Given the description of an element on the screen output the (x, y) to click on. 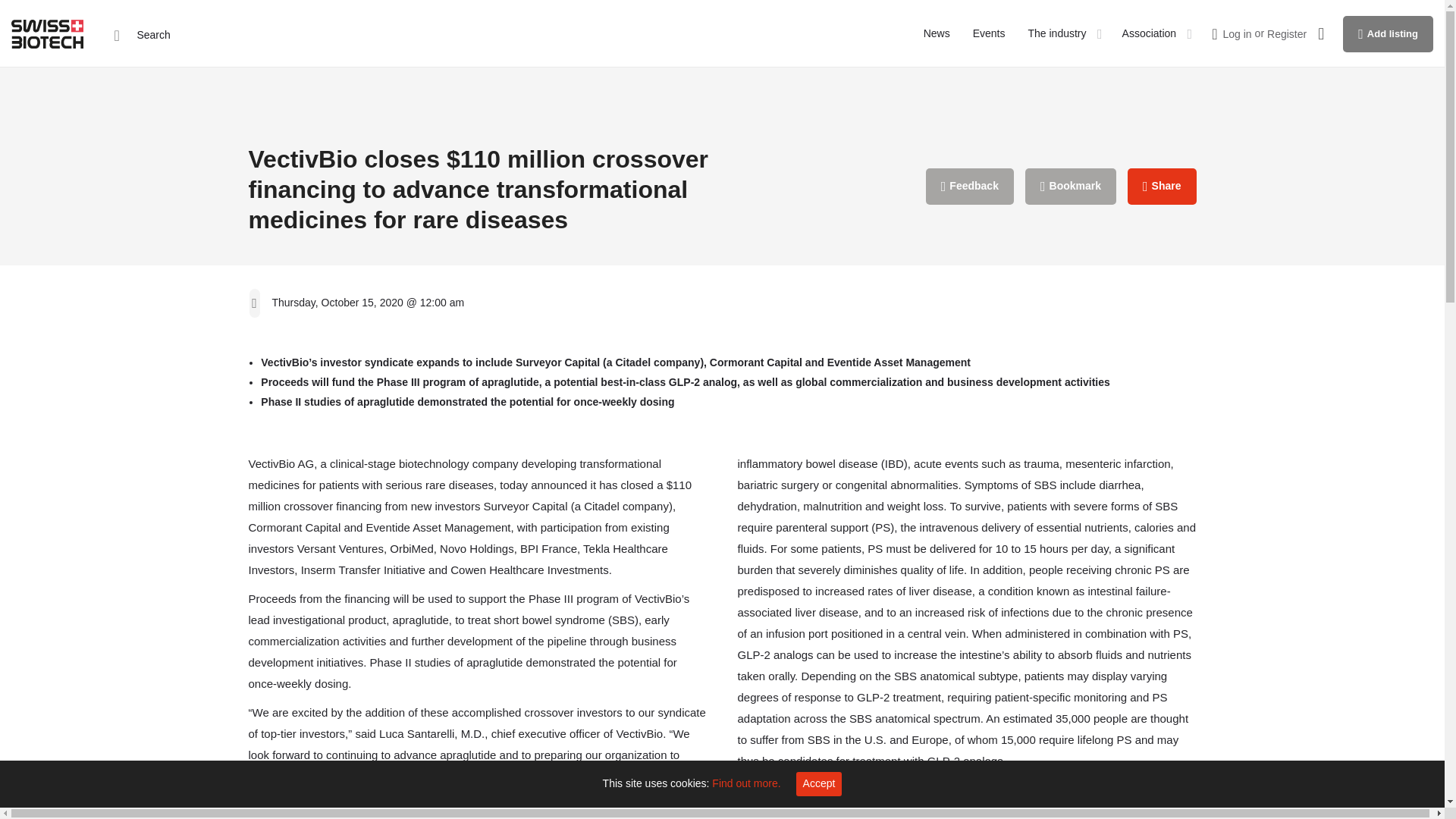
The industry (1056, 32)
Add listing (1387, 33)
Association (1149, 32)
Log in (1236, 33)
Register (1286, 33)
Events (989, 32)
Bookmark (1070, 186)
Feedback (969, 186)
News (936, 32)
Share (1161, 186)
